Given the description of an element on the screen output the (x, y) to click on. 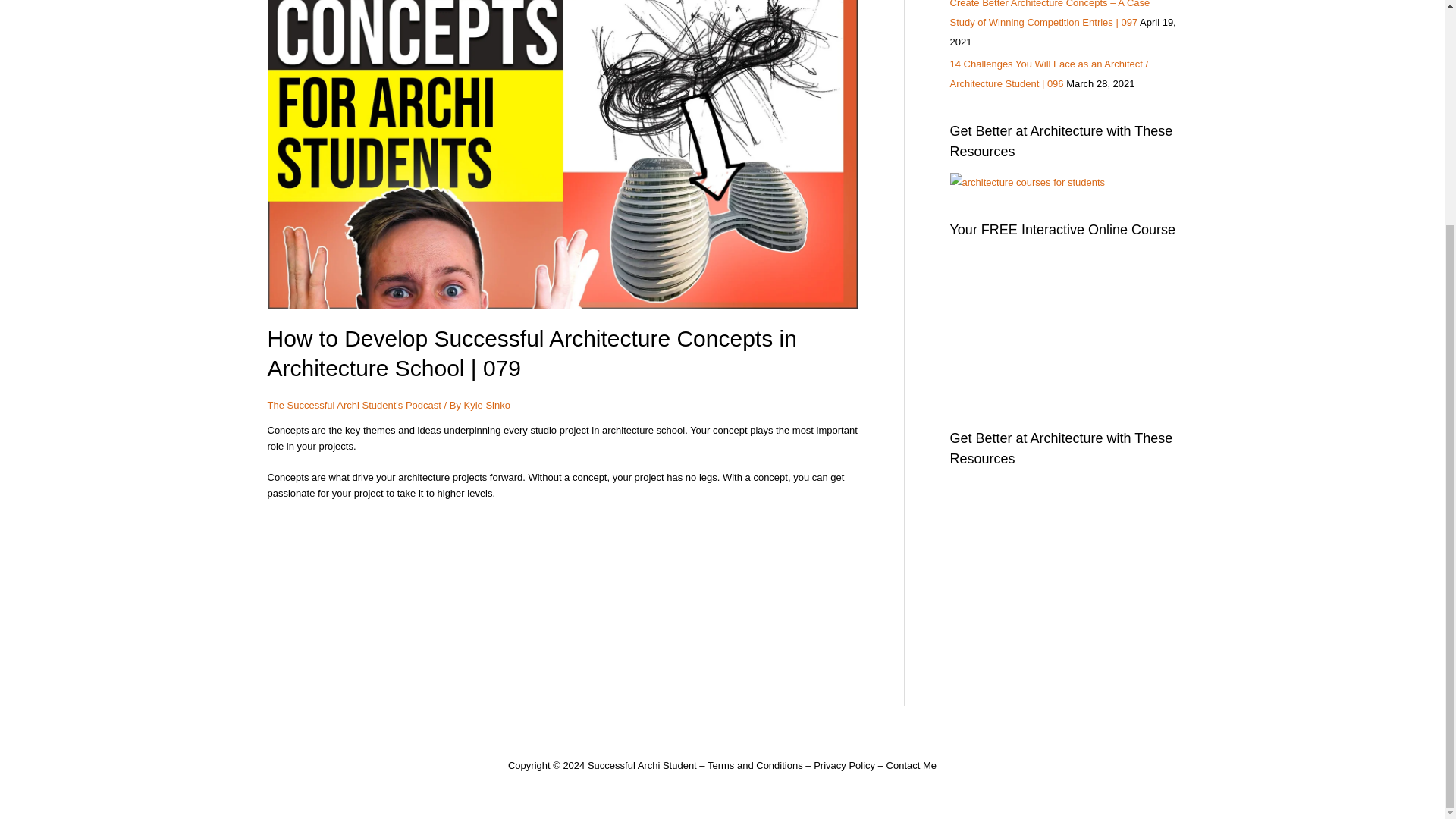
Terms and Conditions (755, 765)
Privacy Policy (844, 765)
Kyle Sinko (487, 405)
View all posts by Kyle Sinko (487, 405)
The Successful Archi Student's Podcast (353, 405)
Contact Me (911, 765)
